Given the description of an element on the screen output the (x, y) to click on. 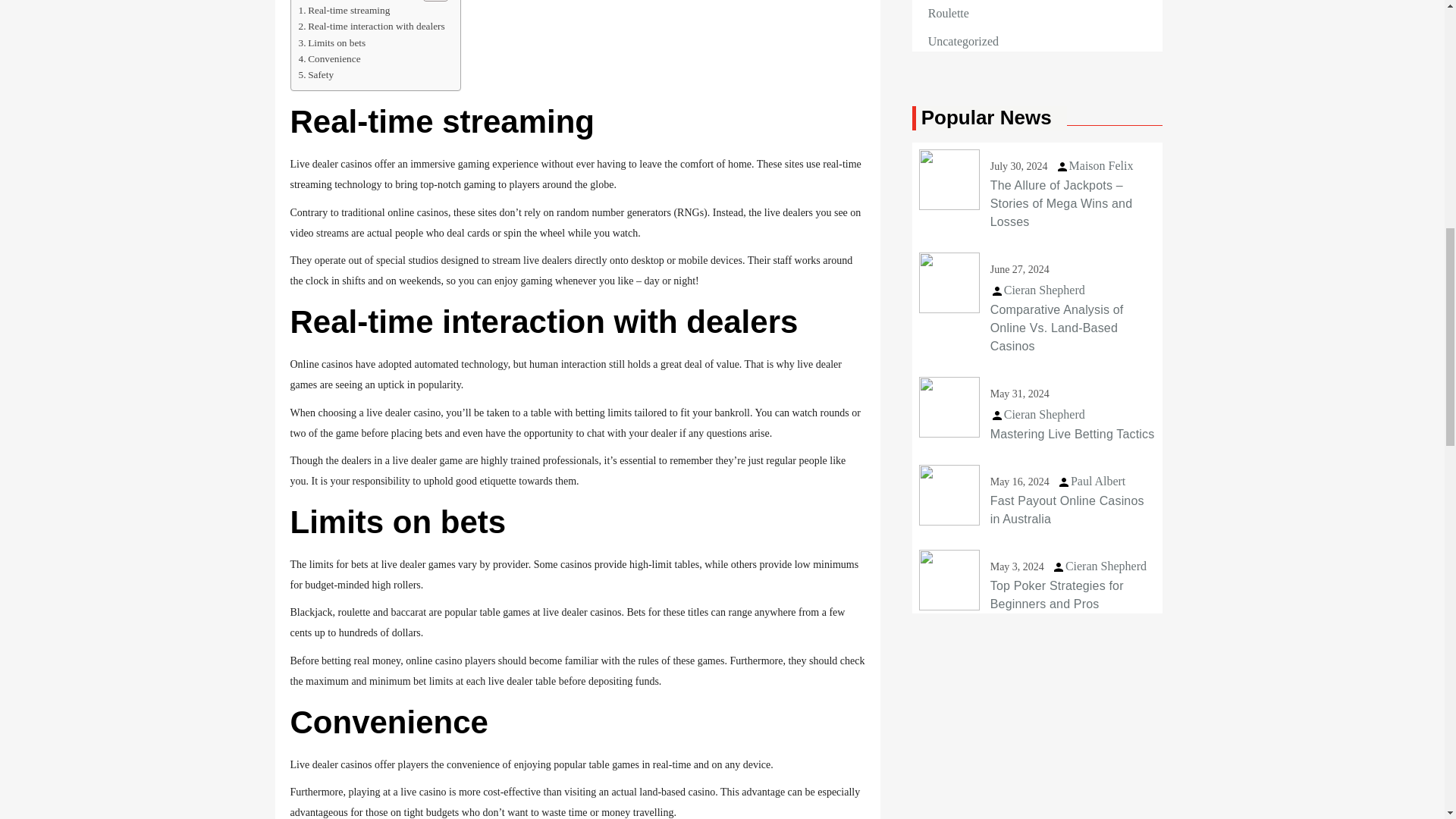
Safety (316, 74)
Convenience (329, 58)
Limits on bets (332, 42)
Real-time interaction with dealers (371, 26)
Roulette (948, 13)
Convenience (329, 58)
Real-time streaming (344, 10)
Limits on bets (332, 42)
Real-time streaming (344, 10)
Safety (316, 74)
